Given the description of an element on the screen output the (x, y) to click on. 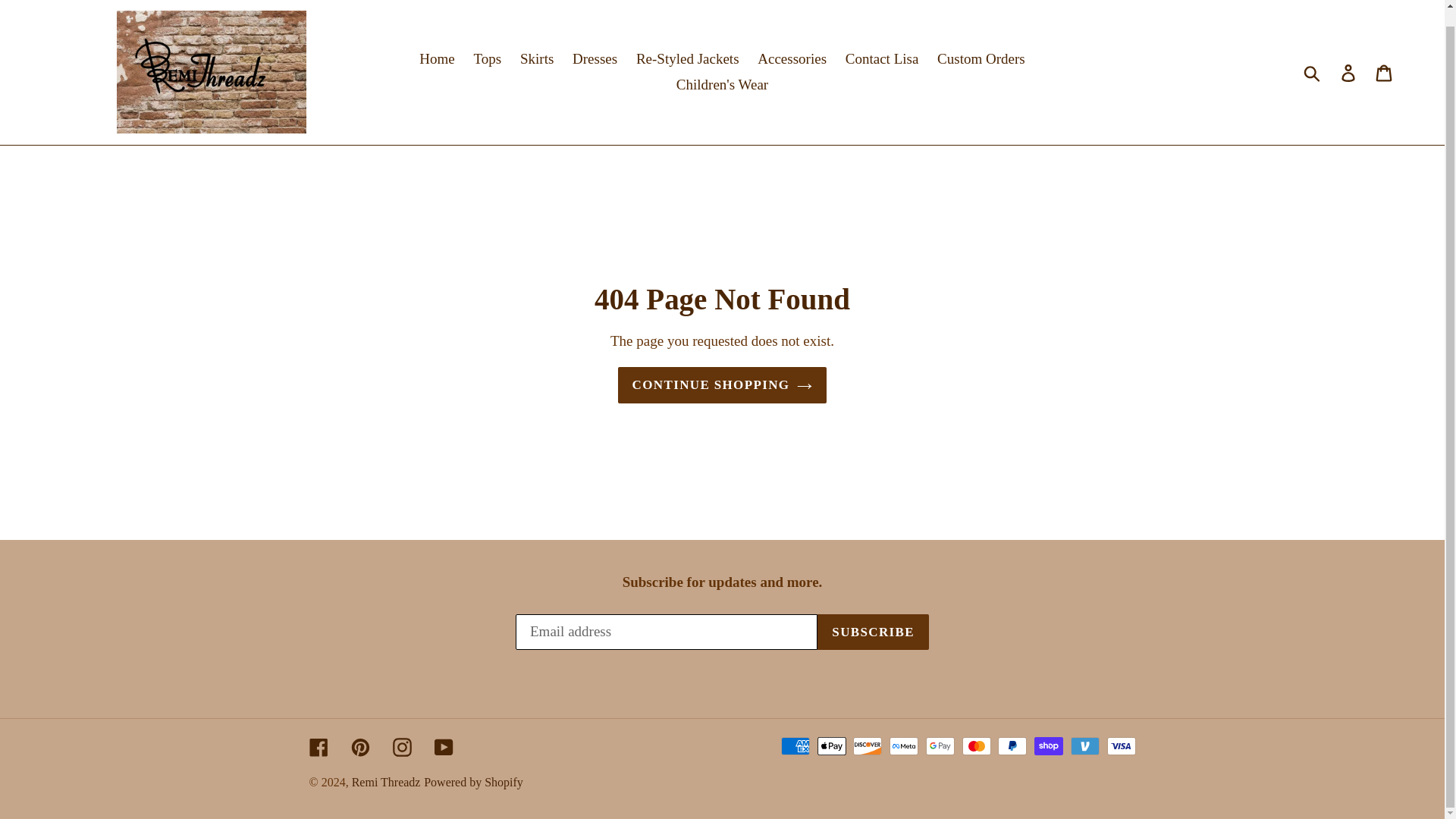
Children's Wear (722, 85)
Re-Styled Jackets (687, 58)
Skirts (536, 58)
Submit (1313, 72)
SUBSCRIBE (872, 632)
Powered by Shopify (472, 781)
CONTINUE SHOPPING (722, 384)
Log in (1349, 72)
Contact Lisa (882, 58)
Dresses (594, 58)
